Given the description of an element on the screen output the (x, y) to click on. 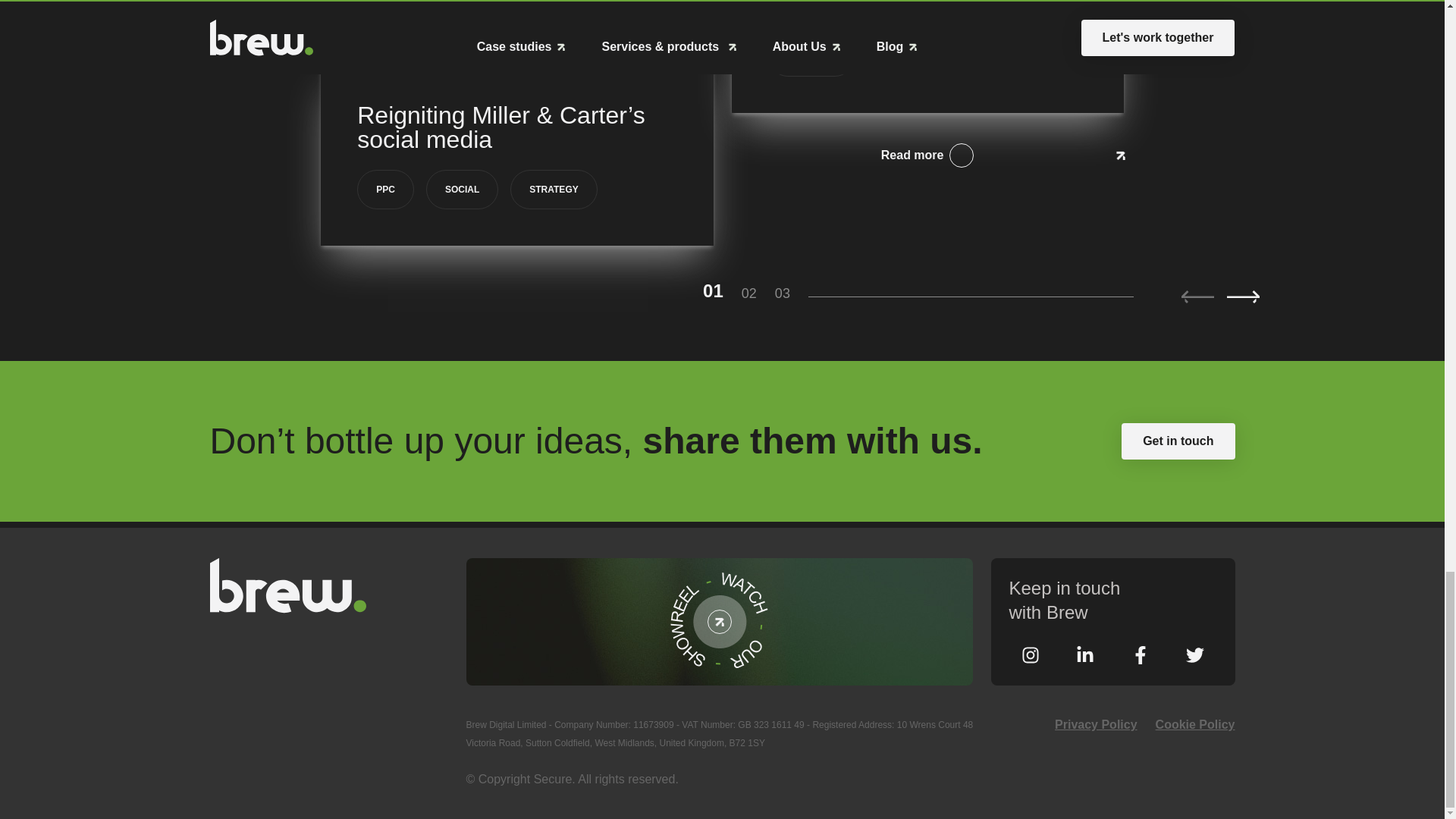
Get in touch (1177, 441)
Read more (927, 155)
Next (1243, 296)
2 (757, 293)
3 (791, 293)
Prev (1197, 296)
